Given the description of an element on the screen output the (x, y) to click on. 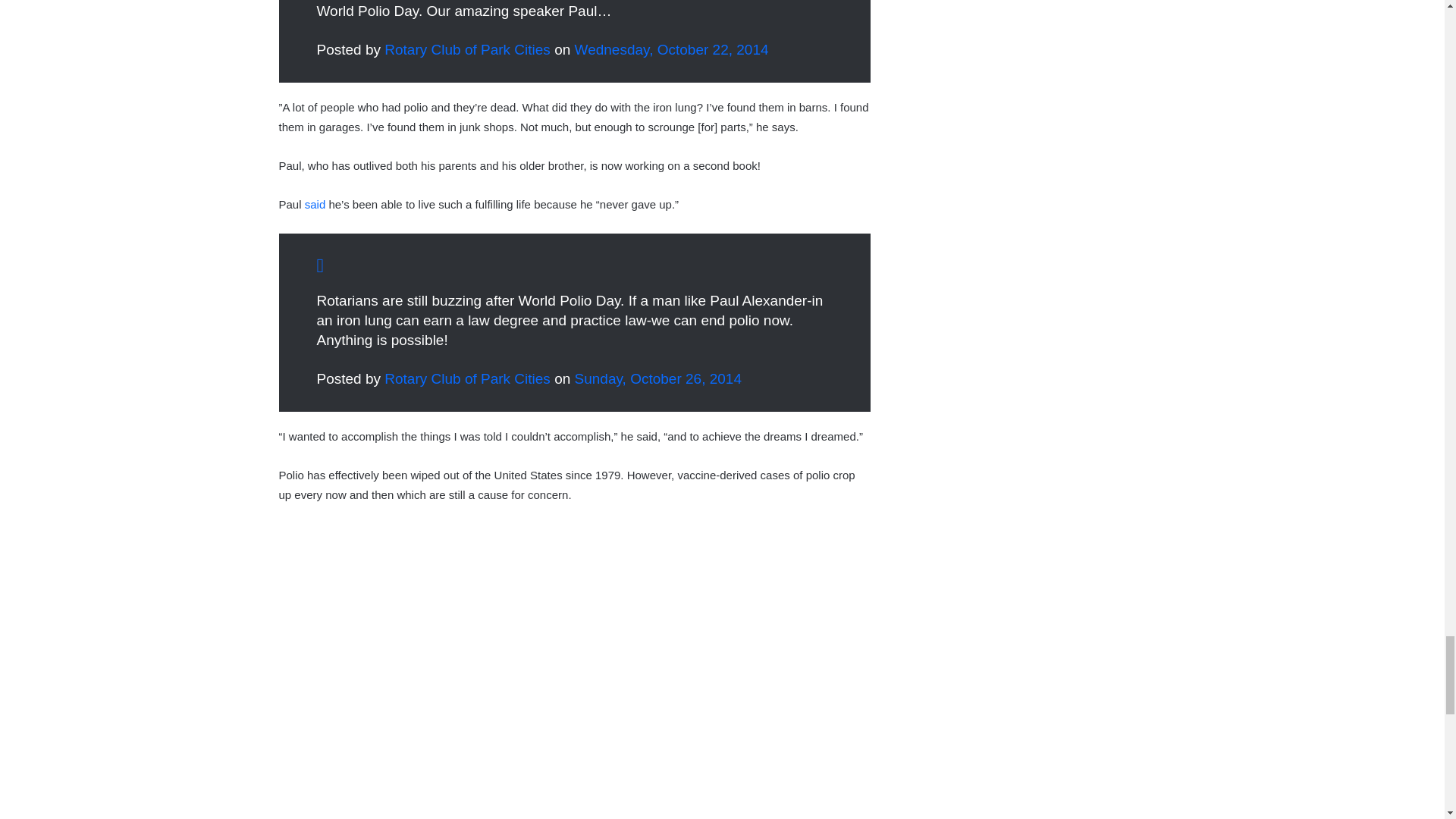
Rotary Club of Park Cities (467, 378)
Wednesday, October 22, 2014 (671, 49)
Rotary Club of Park Cities (467, 49)
Sunday, October 26, 2014 (658, 378)
said (315, 204)
